Given the description of an element on the screen output the (x, y) to click on. 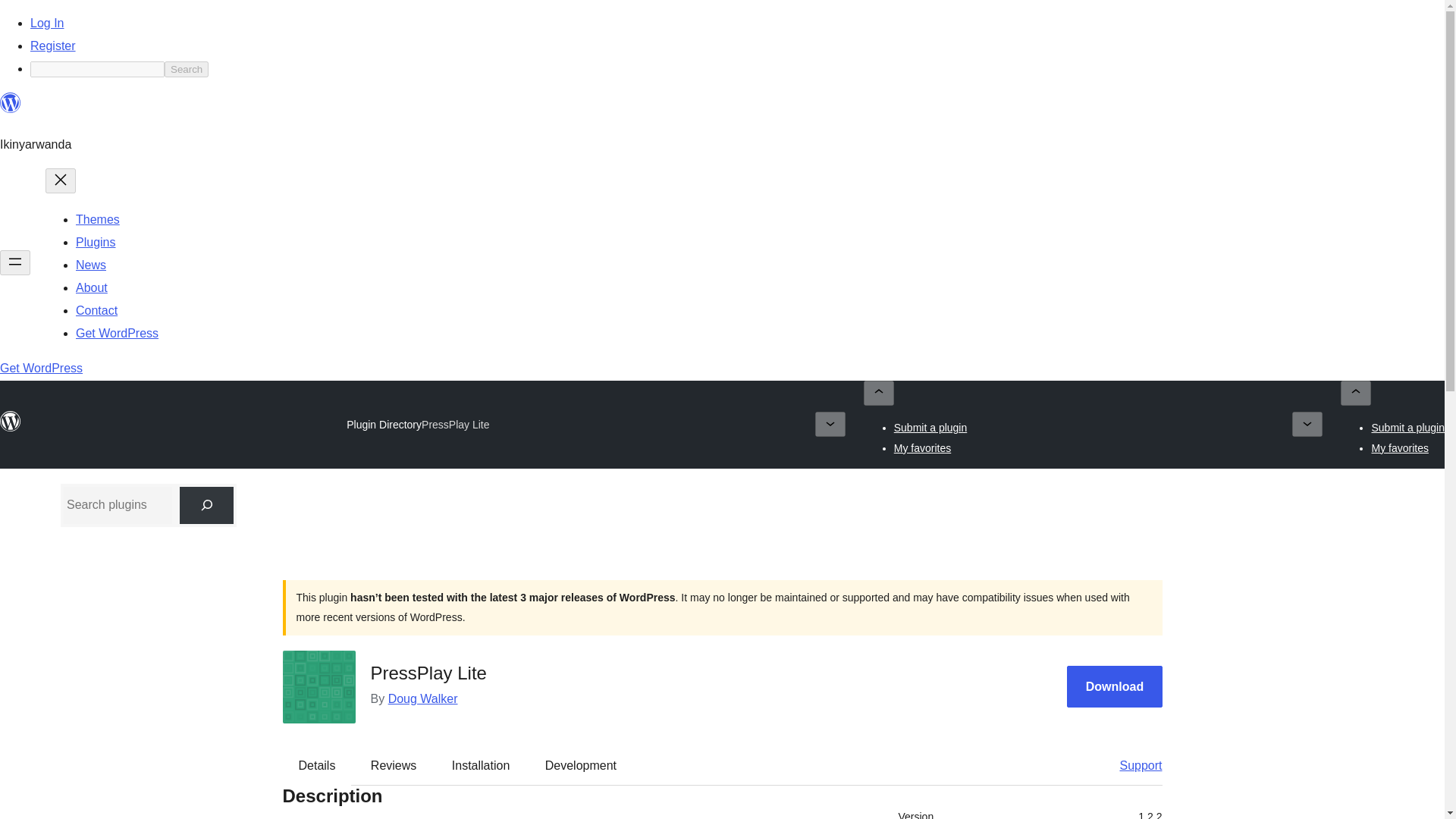
Development (580, 765)
Log In (47, 22)
About (91, 287)
Get WordPress (116, 332)
WordPress.org (10, 109)
Themes (97, 219)
Installation (480, 765)
Plugin Directory (384, 424)
Details (316, 765)
WordPress.org (10, 421)
Support (1132, 765)
Reviews (392, 765)
PressPlay Lite (455, 424)
My favorites (1399, 447)
Doug Walker (423, 698)
